Given the description of an element on the screen output the (x, y) to click on. 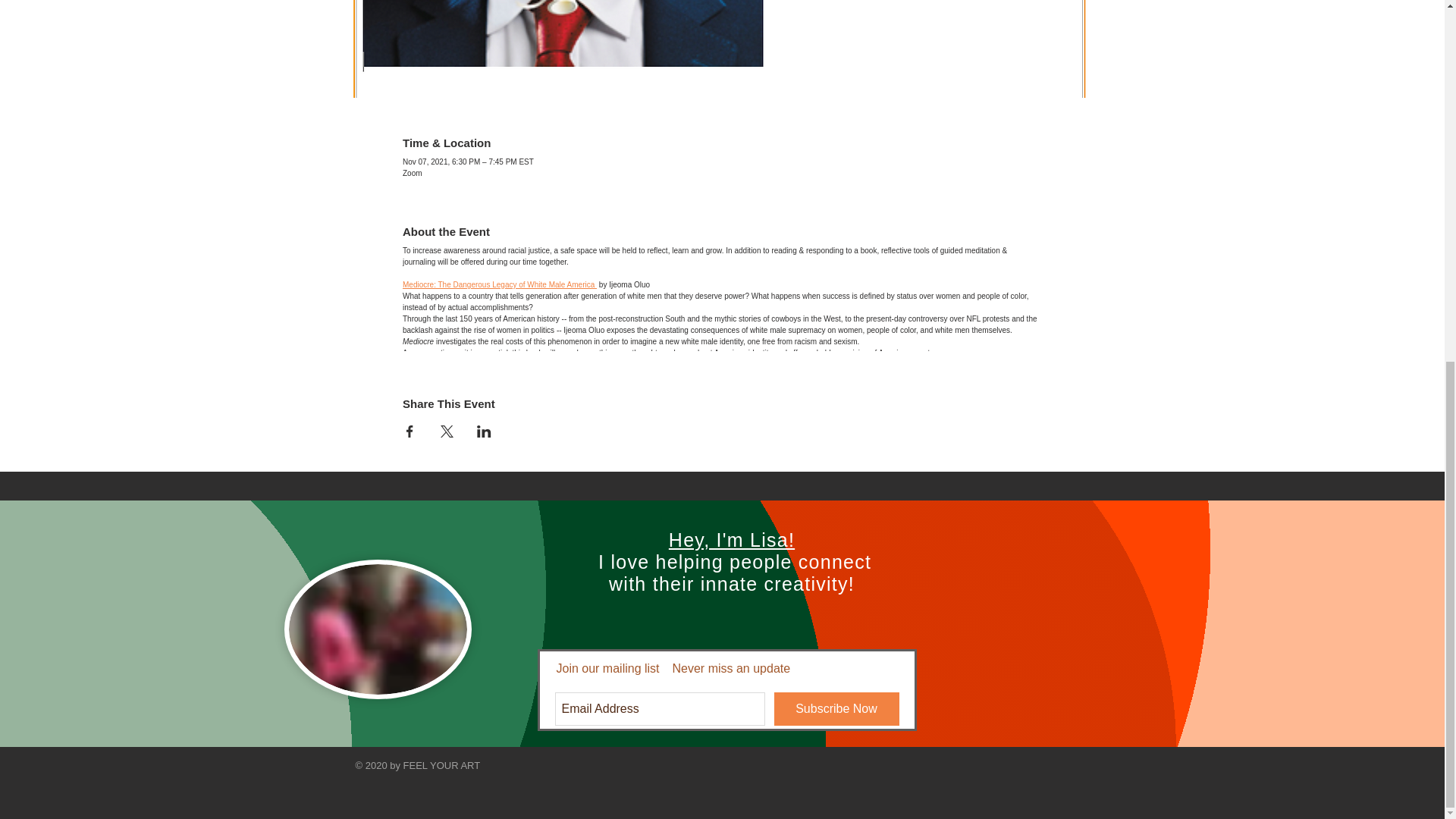
Subscribe Now (835, 708)
Mediocre: The Dangerous Legacy of White Male America (499, 284)
Hey, I'm Lisa! (731, 539)
